Given the description of an element on the screen output the (x, y) to click on. 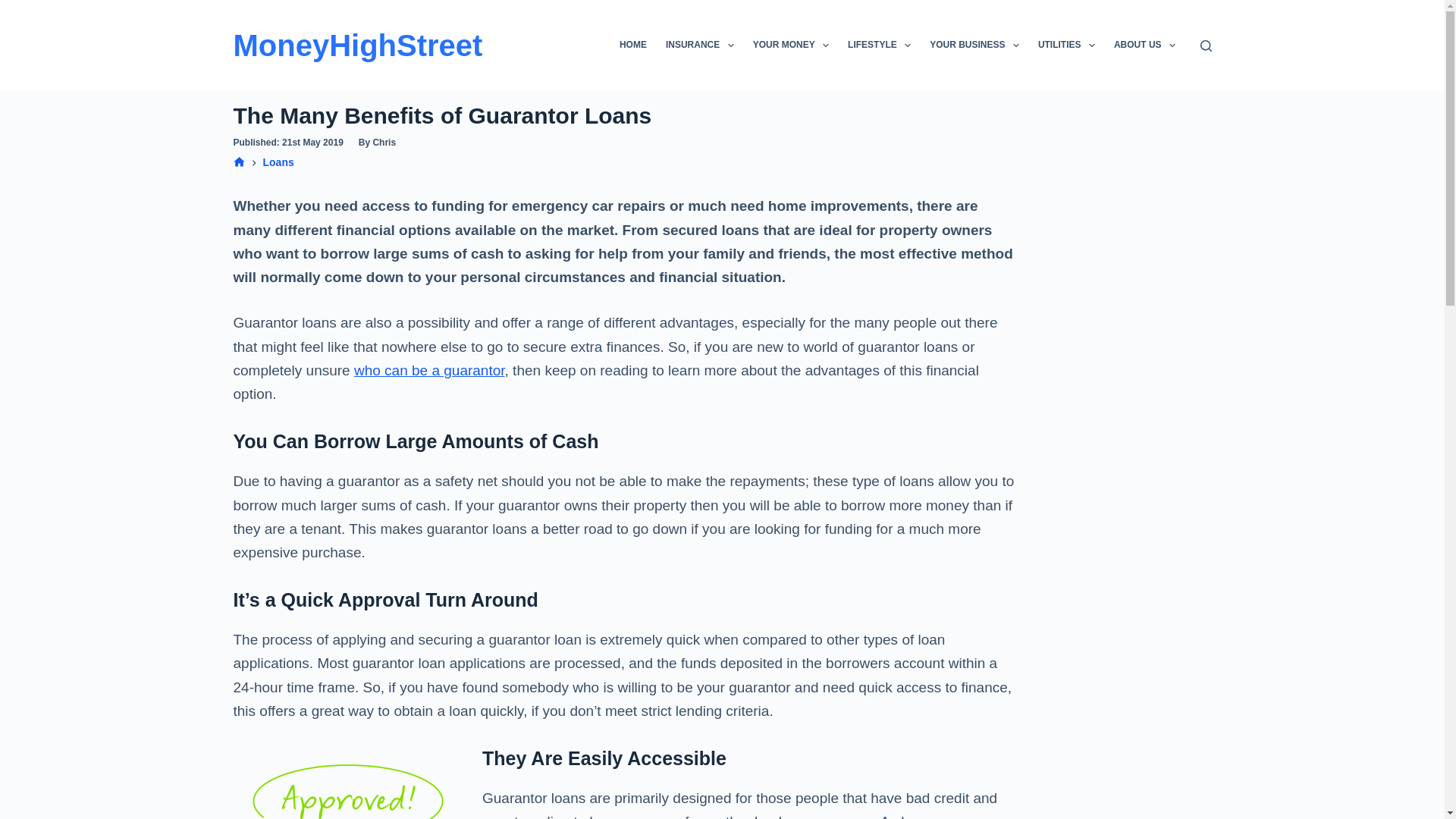
The Many Benefits of Guarantor Loans (624, 115)
Posts by Chris (384, 142)
Skip to content (15, 7)
